Given the description of an element on the screen output the (x, y) to click on. 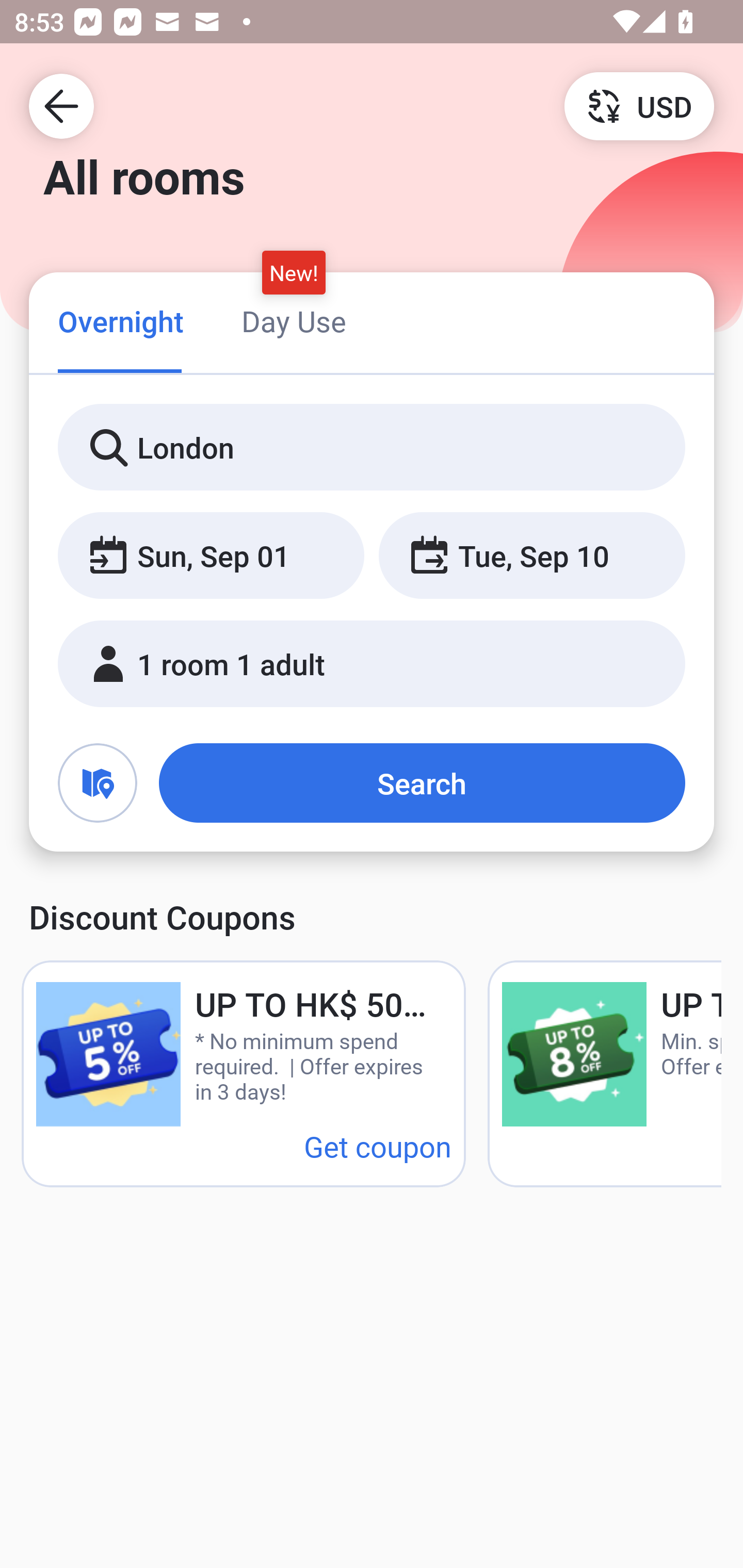
USD (639, 105)
New! (294, 272)
Day Use (293, 321)
London (371, 447)
Sun, Sep 01 (210, 555)
Tue, Sep 10 (531, 555)
1 room 1 adult (371, 663)
Search (422, 783)
Get coupon (377, 1146)
